Given the description of an element on the screen output the (x, y) to click on. 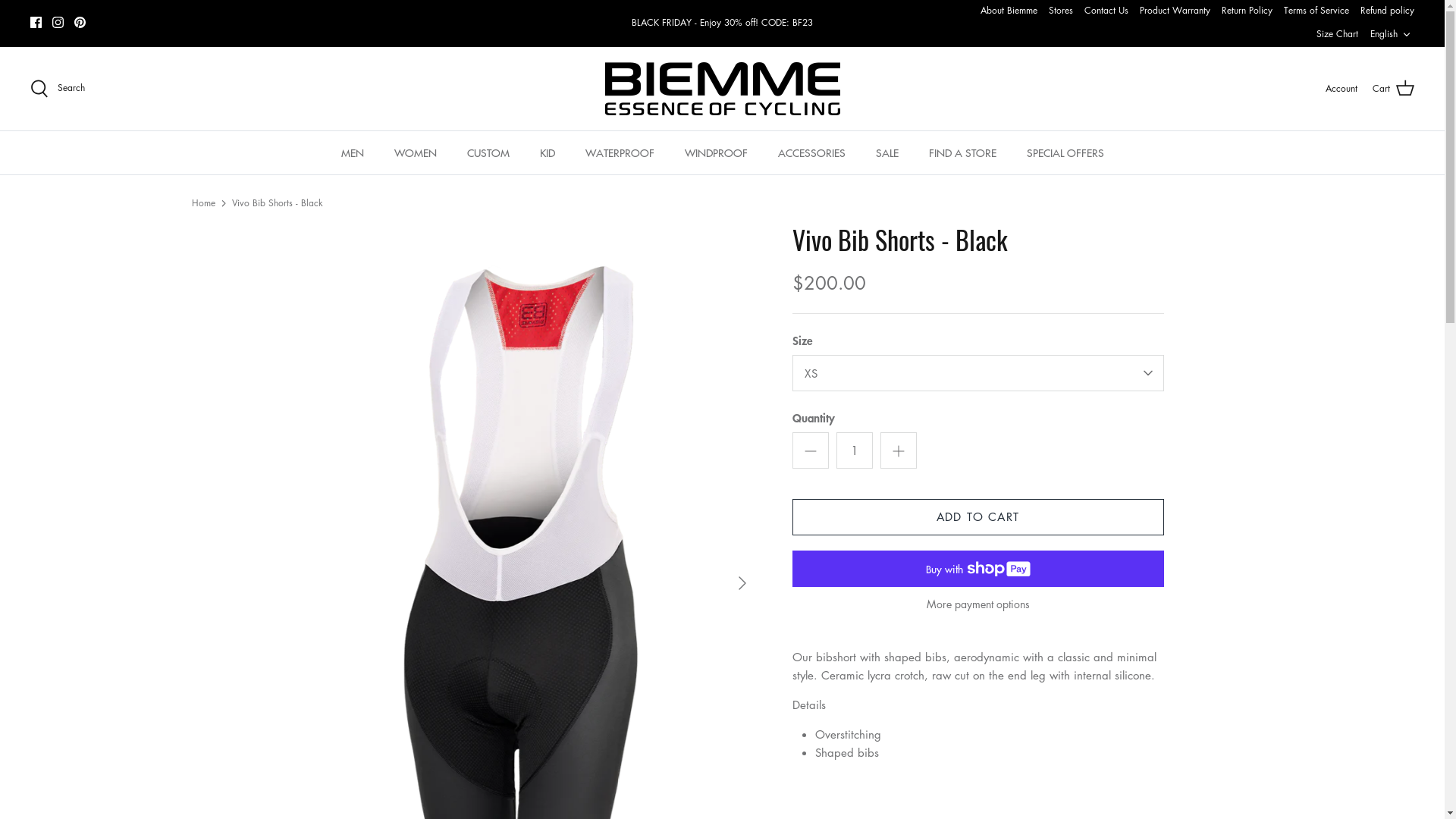
Size Chart Element type: text (1337, 34)
SPECIAL OFFERS Element type: text (1065, 152)
Home Element type: text (202, 202)
Instagram Element type: text (57, 22)
Canada Biemme America Element type: hover (722, 88)
Terms of Service Element type: text (1316, 10)
CUSTOM Element type: text (488, 152)
RIGHT Element type: text (741, 582)
MEN Element type: text (352, 152)
Search Element type: text (57, 88)
Return Policy Element type: text (1246, 10)
FIND A STORE Element type: text (961, 152)
WATERPROOF Element type: text (619, 152)
English
Down Element type: text (1392, 34)
WINDPROOF Element type: text (715, 152)
About Biemme Element type: text (1008, 10)
Contact Us Element type: text (1106, 10)
ACCESSORIES Element type: text (811, 152)
SALE Element type: text (886, 152)
Vivo Bib Shorts - Black Element type: text (277, 202)
KID Element type: text (547, 152)
Cart Element type: text (1393, 88)
Plus Element type: text (897, 450)
More payment options Element type: text (977, 603)
ADD TO CART Element type: text (977, 516)
Account Element type: text (1341, 88)
XS Element type: text (977, 372)
Refund policy Element type: text (1387, 10)
Facebook Element type: text (35, 22)
Minus Element type: text (809, 450)
Stores Element type: text (1060, 10)
Pinterest Element type: text (79, 22)
WOMEN Element type: text (415, 152)
Product Warranty Element type: text (1174, 10)
